Given the description of an element on the screen output the (x, y) to click on. 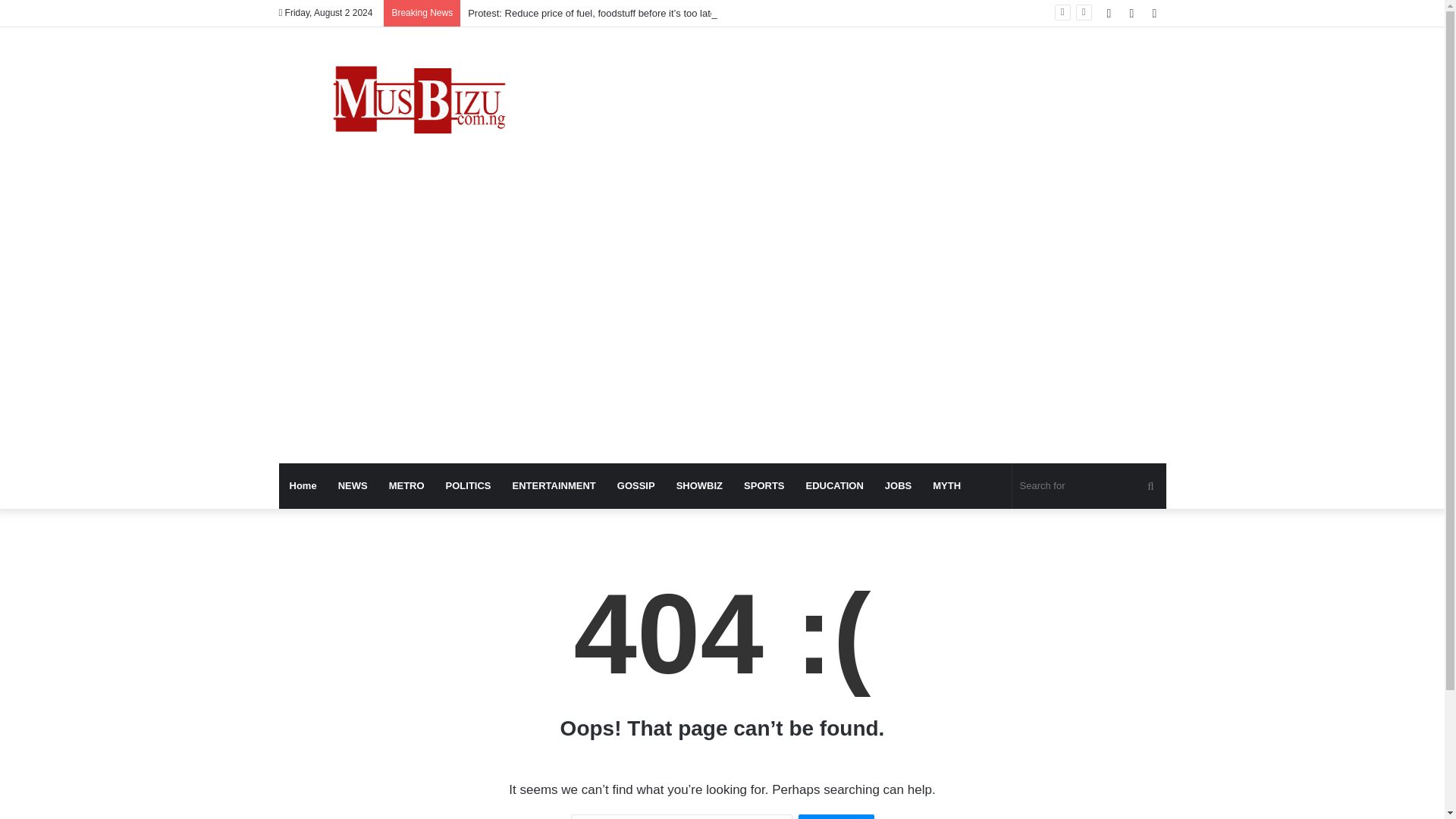
SHOWBIZ (699, 485)
JOBS (898, 485)
Musbizu (419, 103)
Search (835, 816)
ENTERTAINMENT (554, 485)
NEWS (352, 485)
SPORTS (763, 485)
Home (303, 485)
GOSSIP (636, 485)
